Given the description of an element on the screen output the (x, y) to click on. 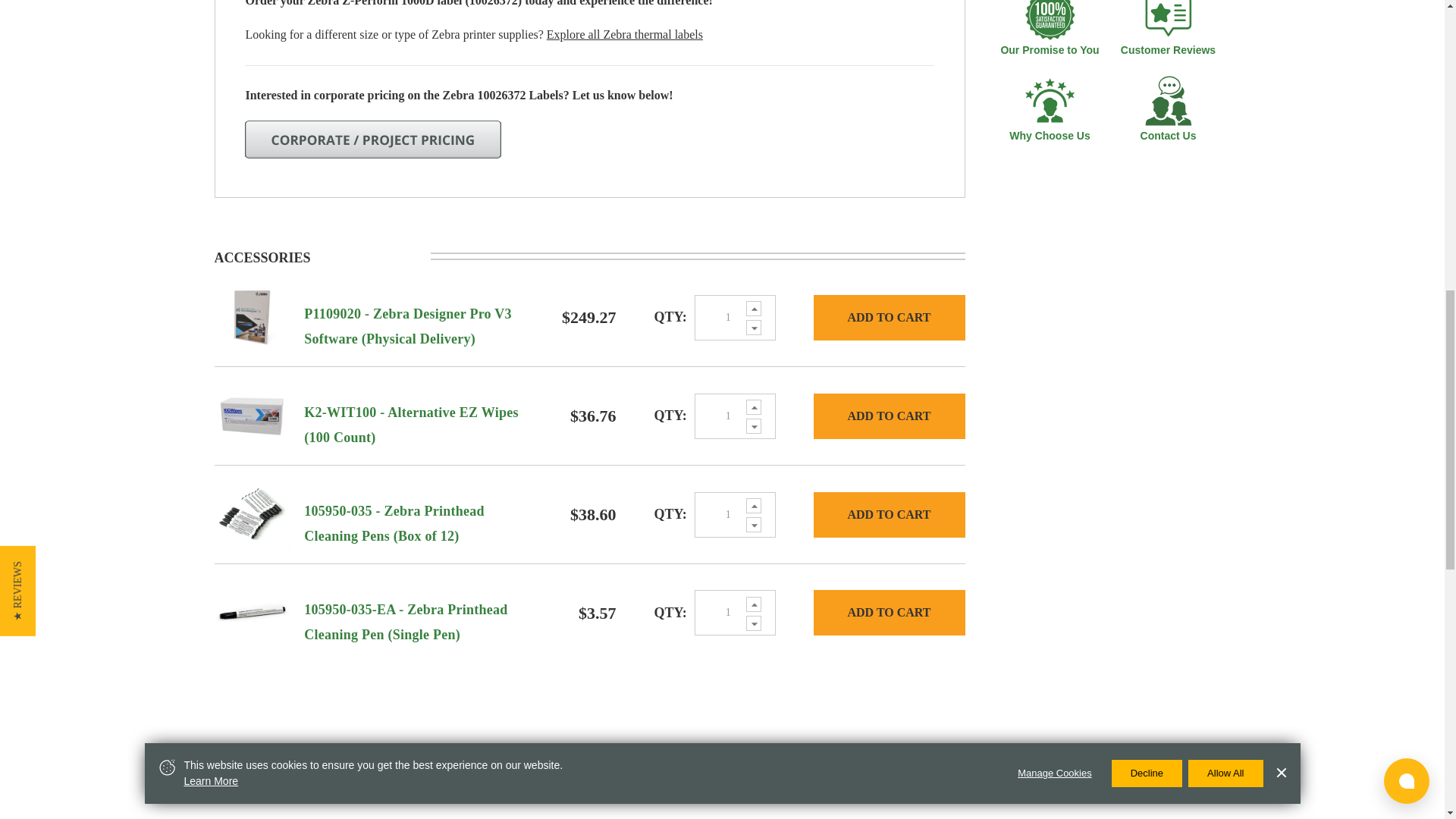
1 (735, 317)
1 (735, 612)
1 (735, 514)
1 (735, 415)
